Given the description of an element on the screen output the (x, y) to click on. 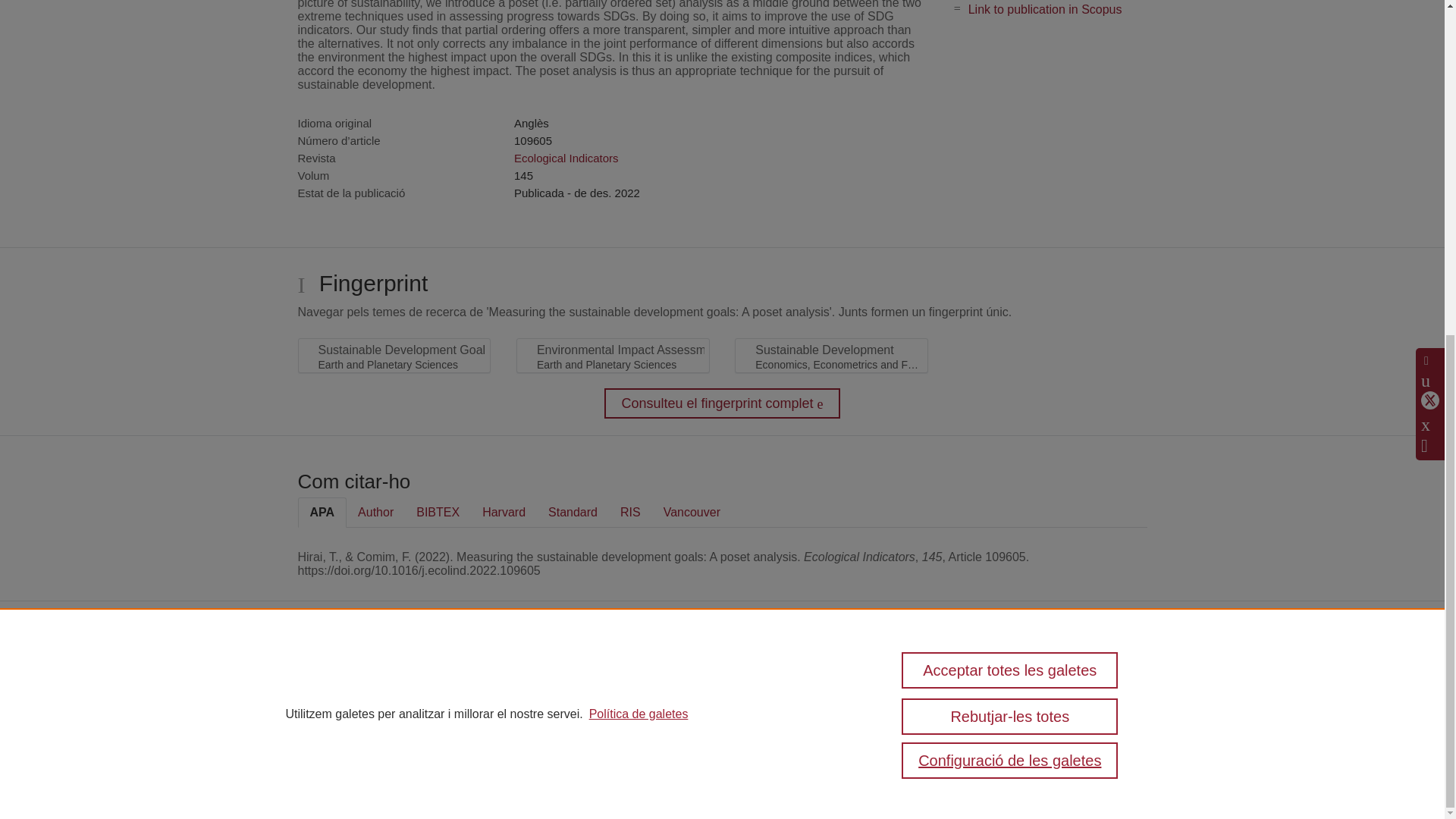
Elsevier B.V. (534, 696)
Scopus (396, 676)
Link to publication in Scopus (1045, 9)
Consulteu el fingerprint complet (722, 403)
Ecological Indicators (565, 157)
Pure (365, 676)
